Given the description of an element on the screen output the (x, y) to click on. 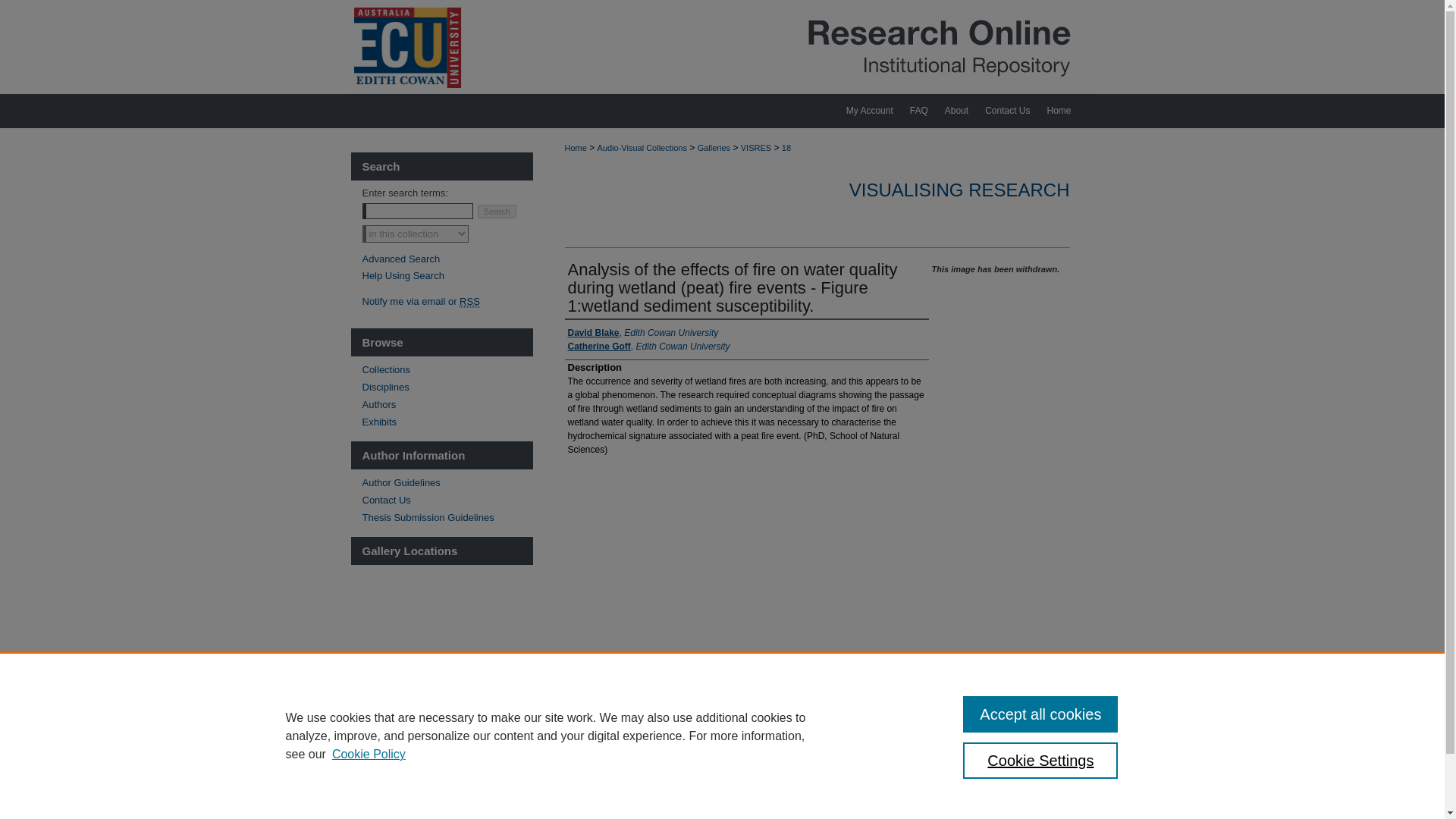
Thesis Submission Guidelines (447, 517)
David Blake, Edith Cowan University (642, 332)
Search (496, 211)
Contact Us (447, 500)
Research Online (721, 47)
Notify me via email or RSS (447, 301)
Home (1065, 110)
Home (1065, 110)
Contact Us (1007, 110)
FAQ (918, 110)
Search (496, 211)
Exhibits (447, 421)
Really Simple Syndication (470, 301)
Browse by Collections (447, 369)
Home (575, 147)
